Given the description of an element on the screen output the (x, y) to click on. 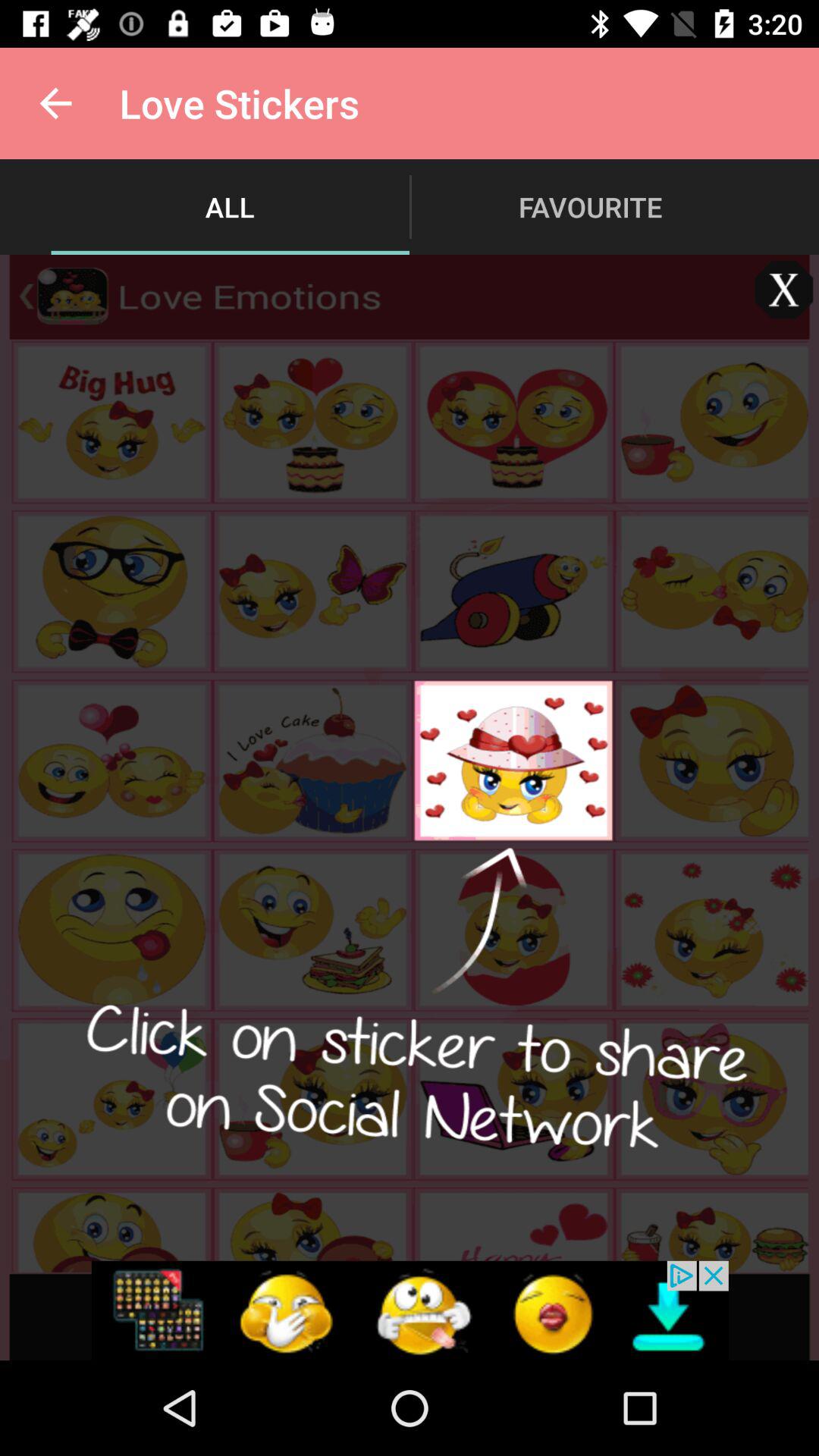
close window (784, 289)
